Given the description of an element on the screen output the (x, y) to click on. 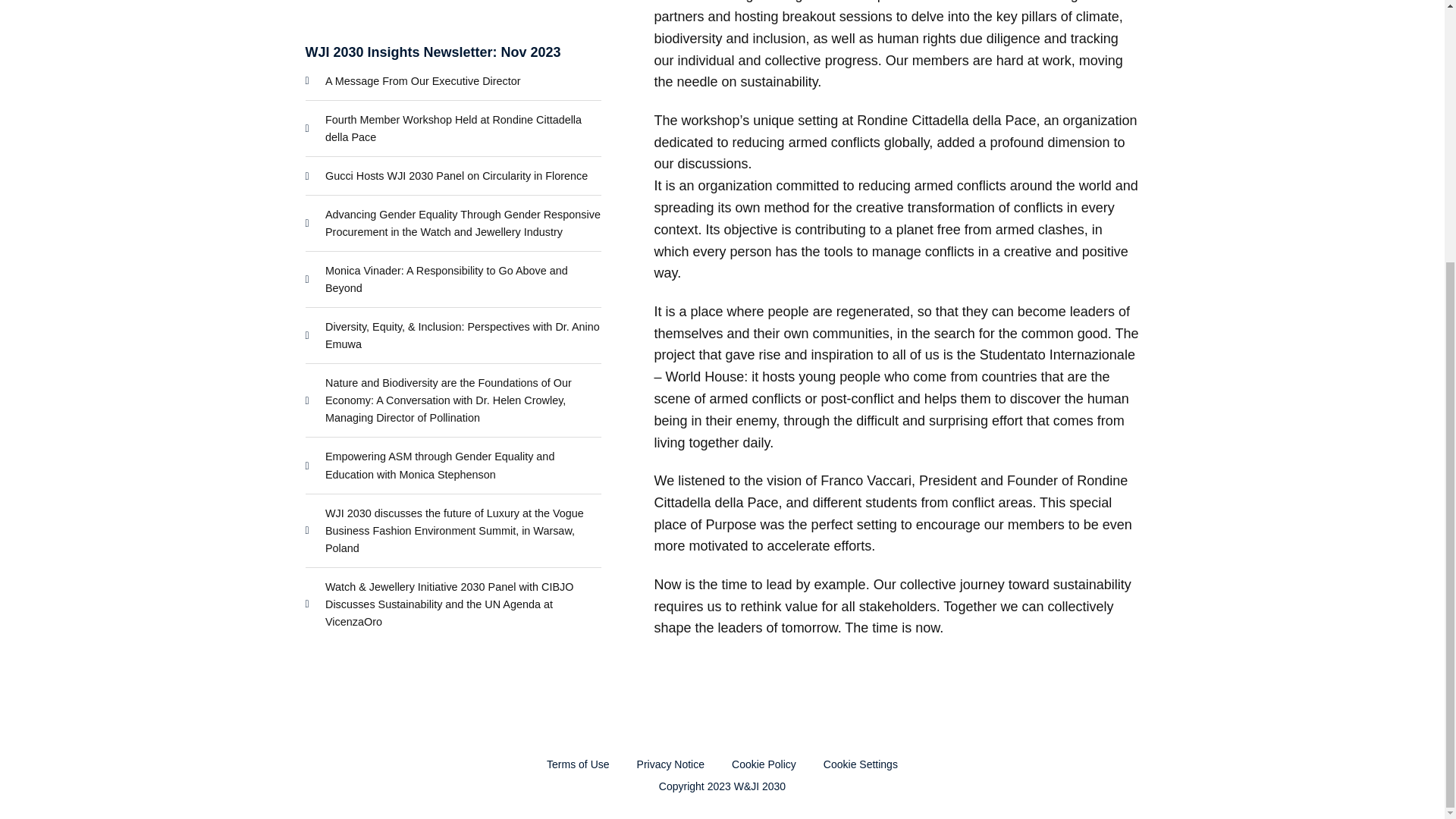
Monica Vinader: A Responsibility to Go Above and Beyond (451, 279)
Cookie Settings (861, 764)
A Message From Our Executive Director (451, 81)
Terms of Use (577, 764)
Gucci Hosts WJI 2030 Panel on Circularity in Florence (451, 176)
Cookie Policy (764, 764)
Privacy Notice (670, 764)
Fourth Member Workshop Held at Rondine Cittadella della Pace (451, 128)
